Given the description of an element on the screen output the (x, y) to click on. 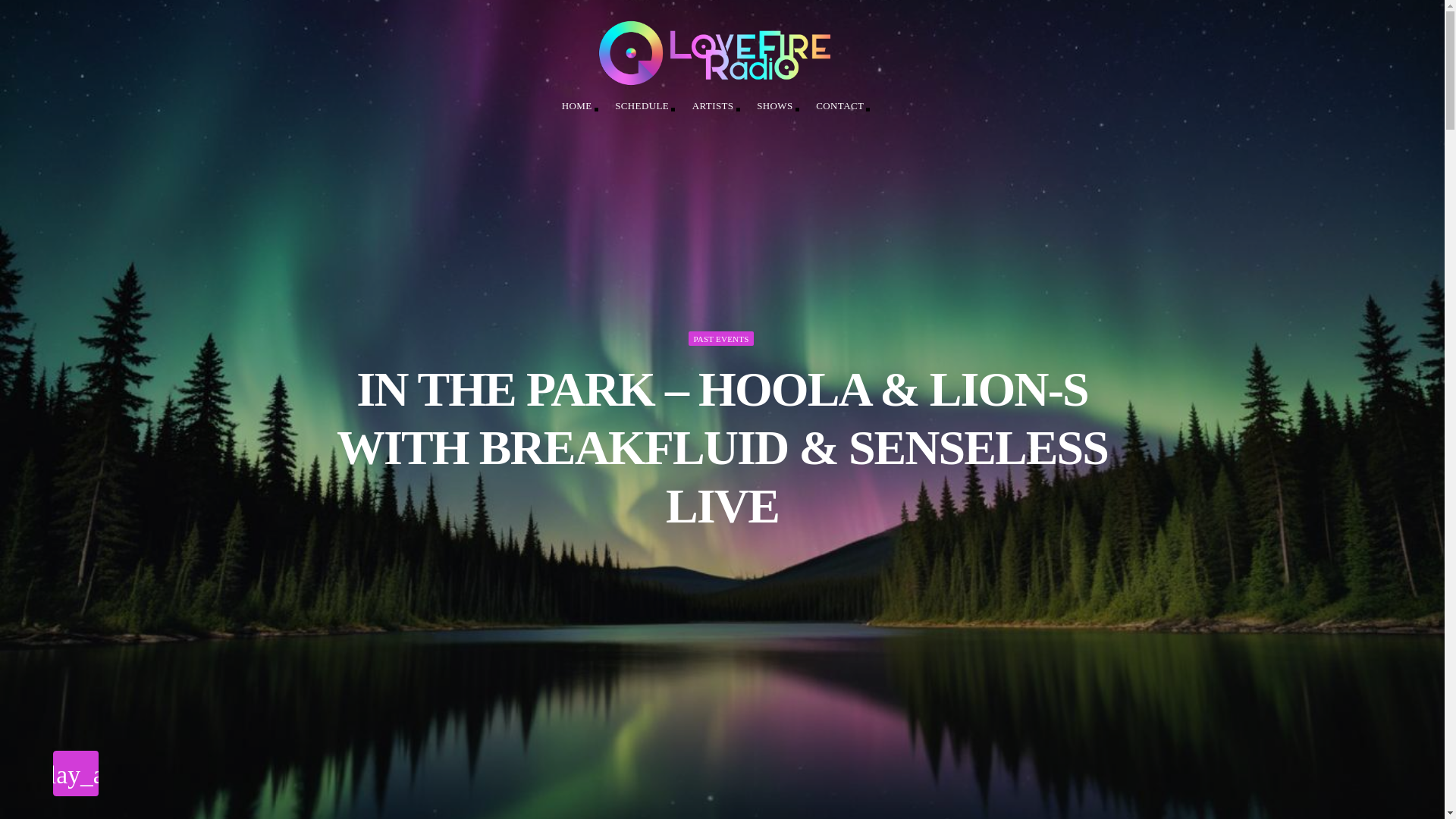
SHOWS (775, 105)
ARTISTS (714, 105)
PAST EVENTS (721, 338)
SCHEDULE (643, 105)
HOME (577, 105)
CONTACT (841, 105)
